Given the description of an element on the screen output the (x, y) to click on. 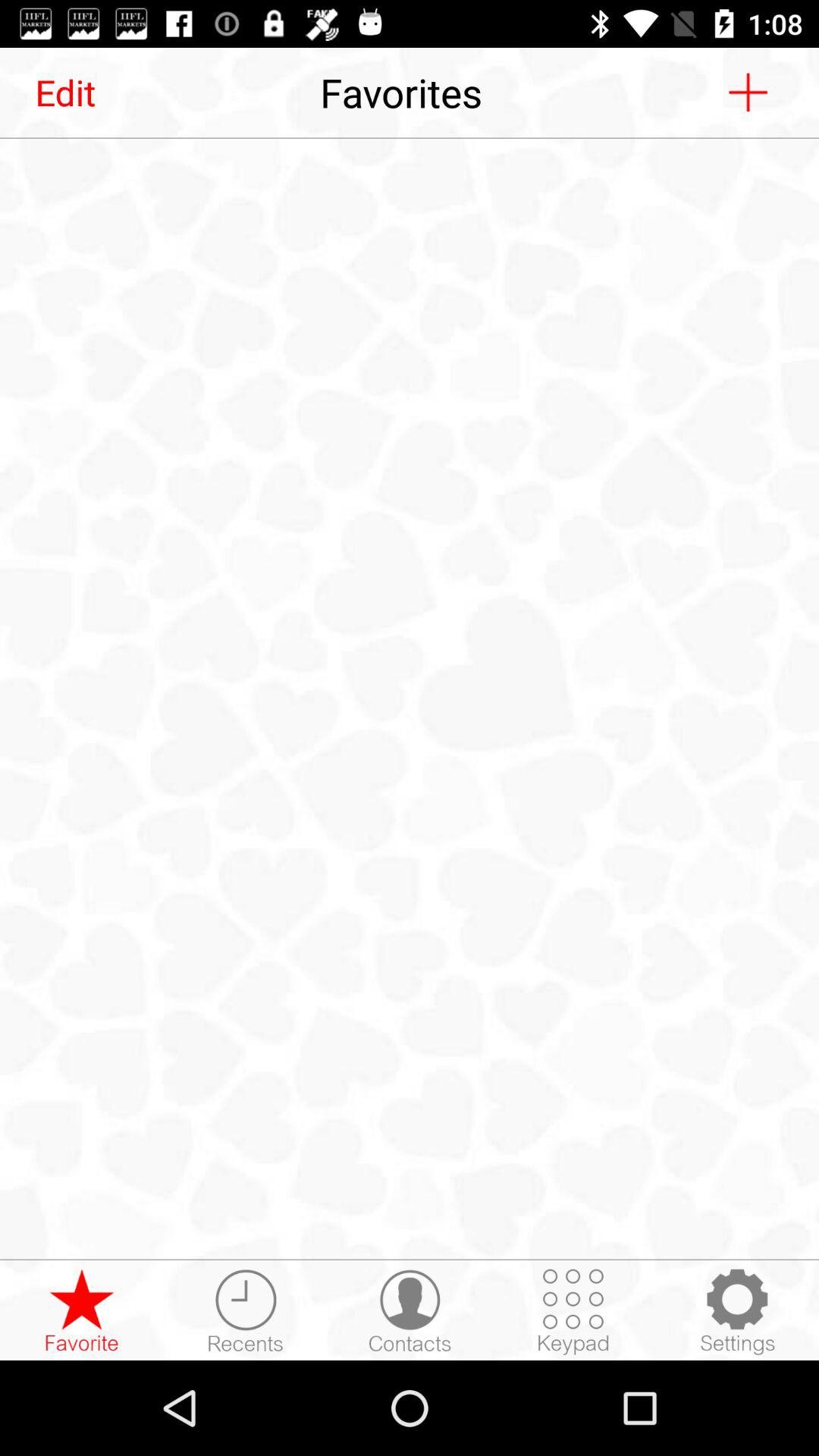
keypad input (573, 1311)
